Given the description of an element on the screen output the (x, y) to click on. 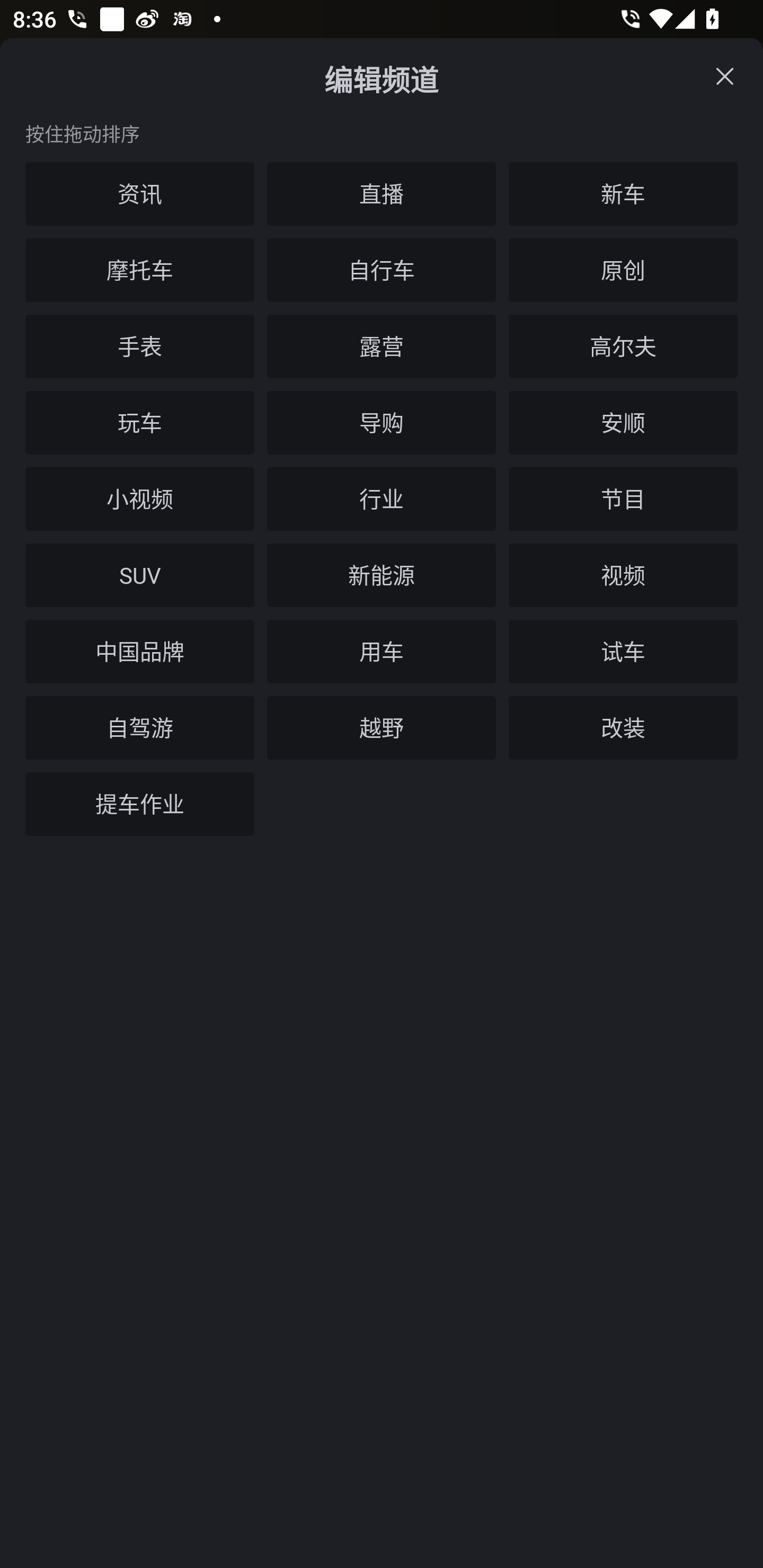
资讯 (139, 193)
直播 (381, 193)
新车 (622, 193)
摩托车 (139, 270)
自行车 (381, 270)
原创 (622, 270)
手表 (139, 346)
露营 (381, 346)
高尔夫 (622, 346)
玩车 (139, 422)
导购 (381, 422)
安顺 (622, 422)
小视频 (139, 498)
行业 (381, 498)
节目 (622, 498)
SUV (139, 575)
新能源 (381, 575)
视频 (622, 575)
中国品牌 (139, 651)
用车 (381, 651)
试车 (622, 651)
自驾游 (139, 727)
越野 (381, 727)
改装 (622, 727)
提车作业 (139, 804)
